Given the description of an element on the screen output the (x, y) to click on. 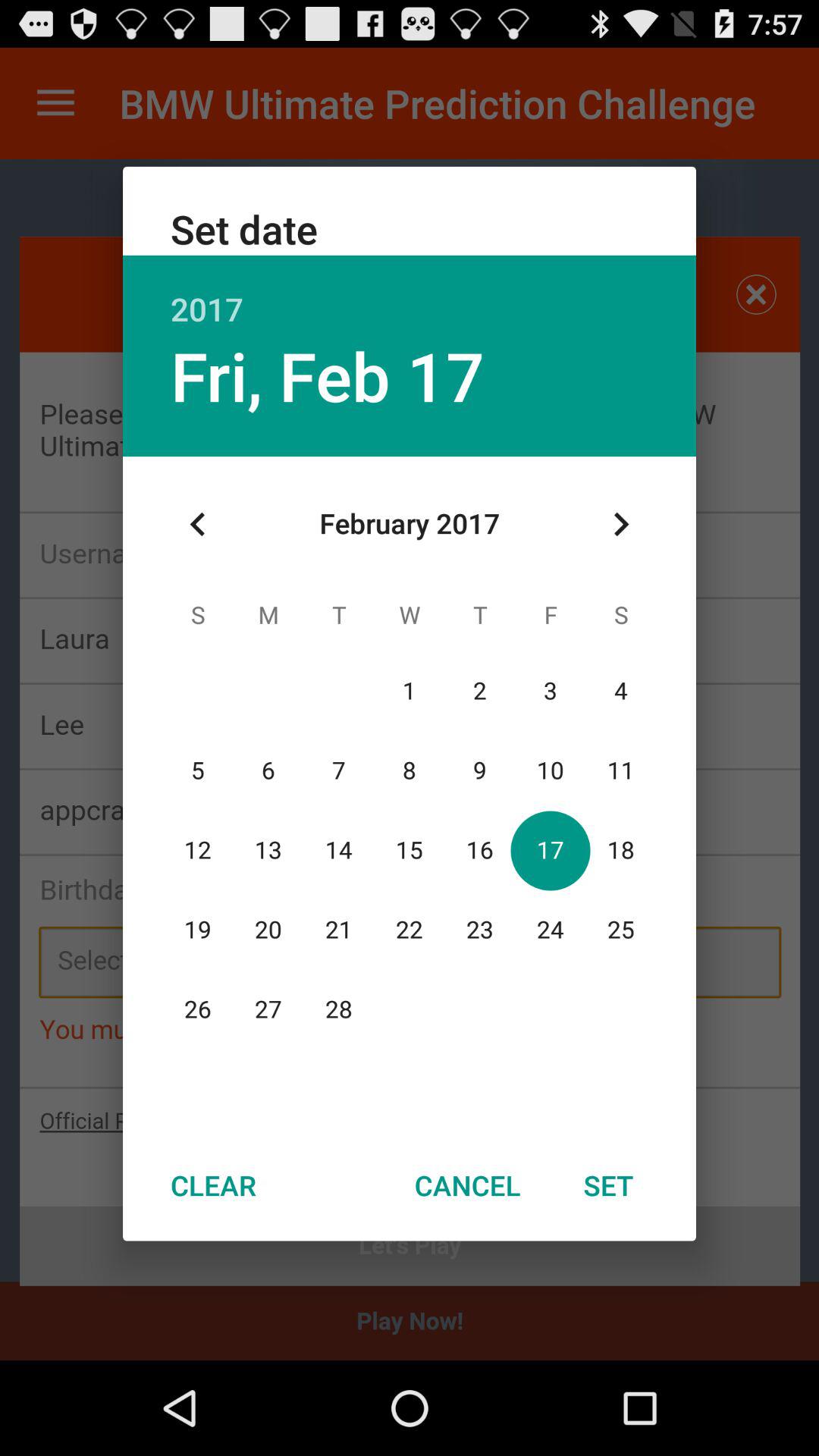
tap the clear (213, 1185)
